Given the description of an element on the screen output the (x, y) to click on. 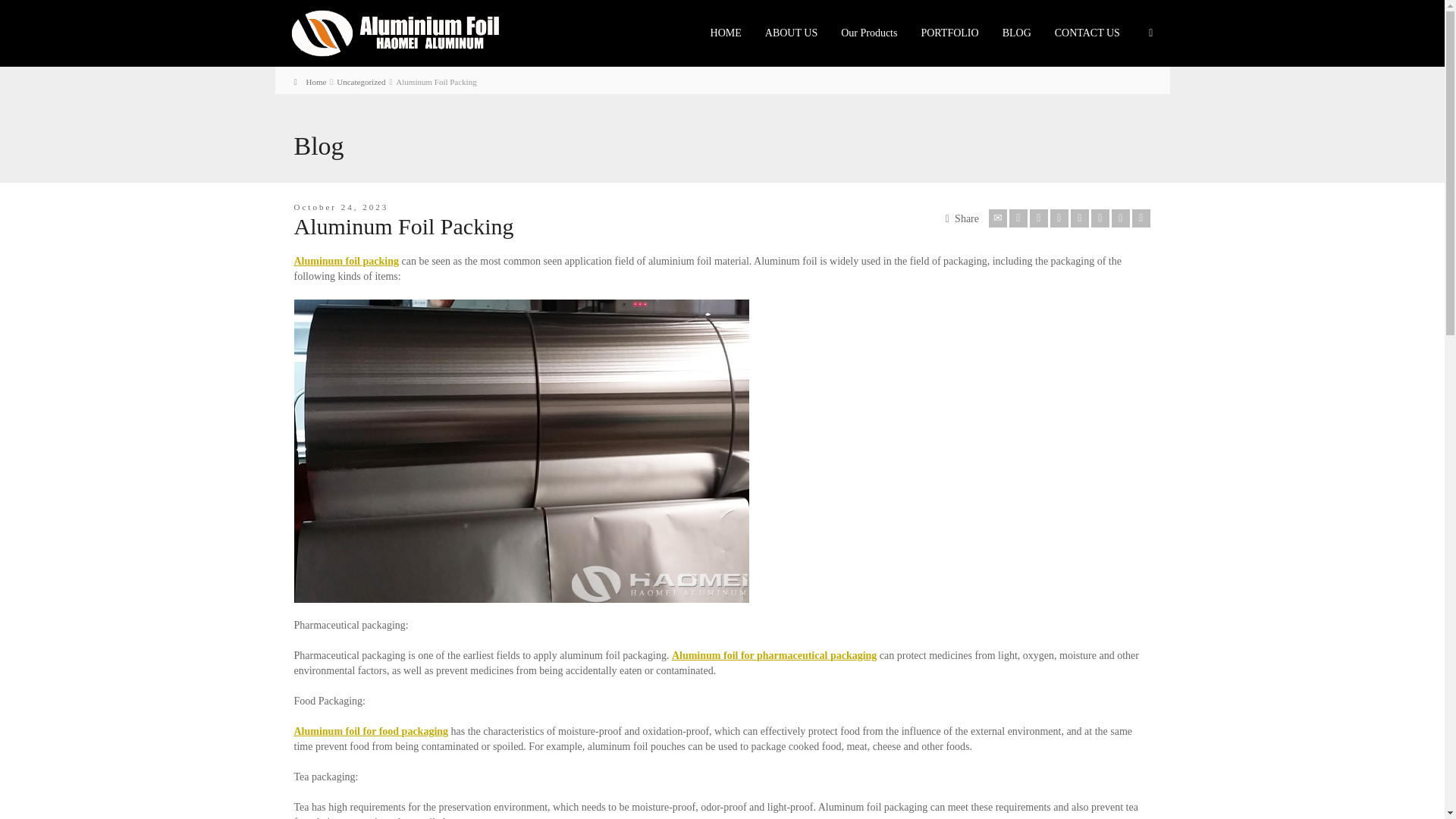
Aluminum foil for pharmaceutical packaging (773, 655)
Aluminum foil for food packaging (371, 731)
PORTFOLIO (949, 33)
Email (997, 218)
CONTACT US (1087, 33)
Our Products (868, 33)
Search (1151, 33)
Facebook (1038, 218)
HOME (726, 33)
Vkontakte (1141, 218)
Linkedin (1120, 218)
BLOG (1017, 33)
Uncategorized (360, 81)
Home (310, 81)
Tumblr (1099, 218)
